Given the description of an element on the screen output the (x, y) to click on. 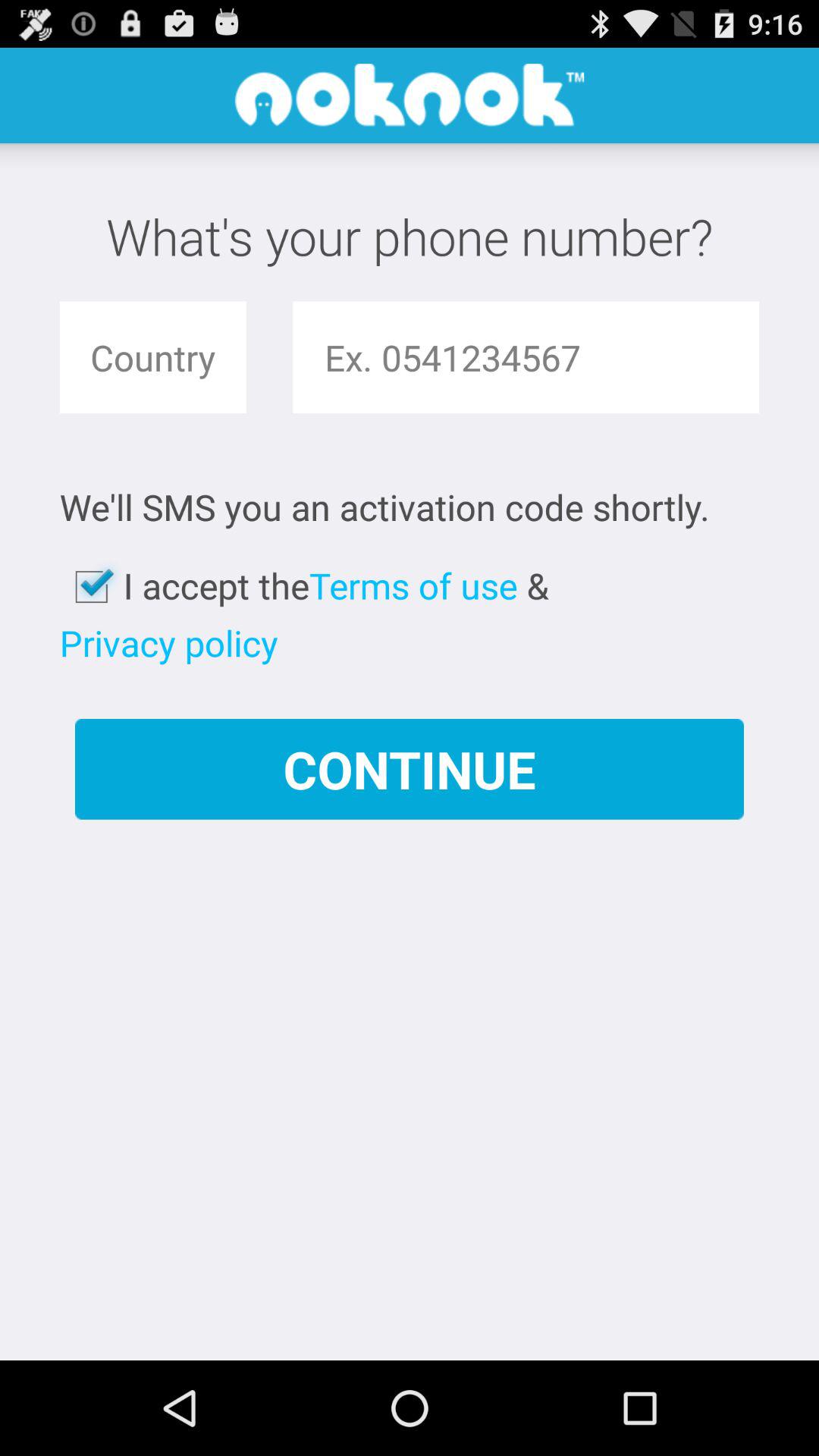
flip until privacy policy icon (168, 642)
